Given the description of an element on the screen output the (x, y) to click on. 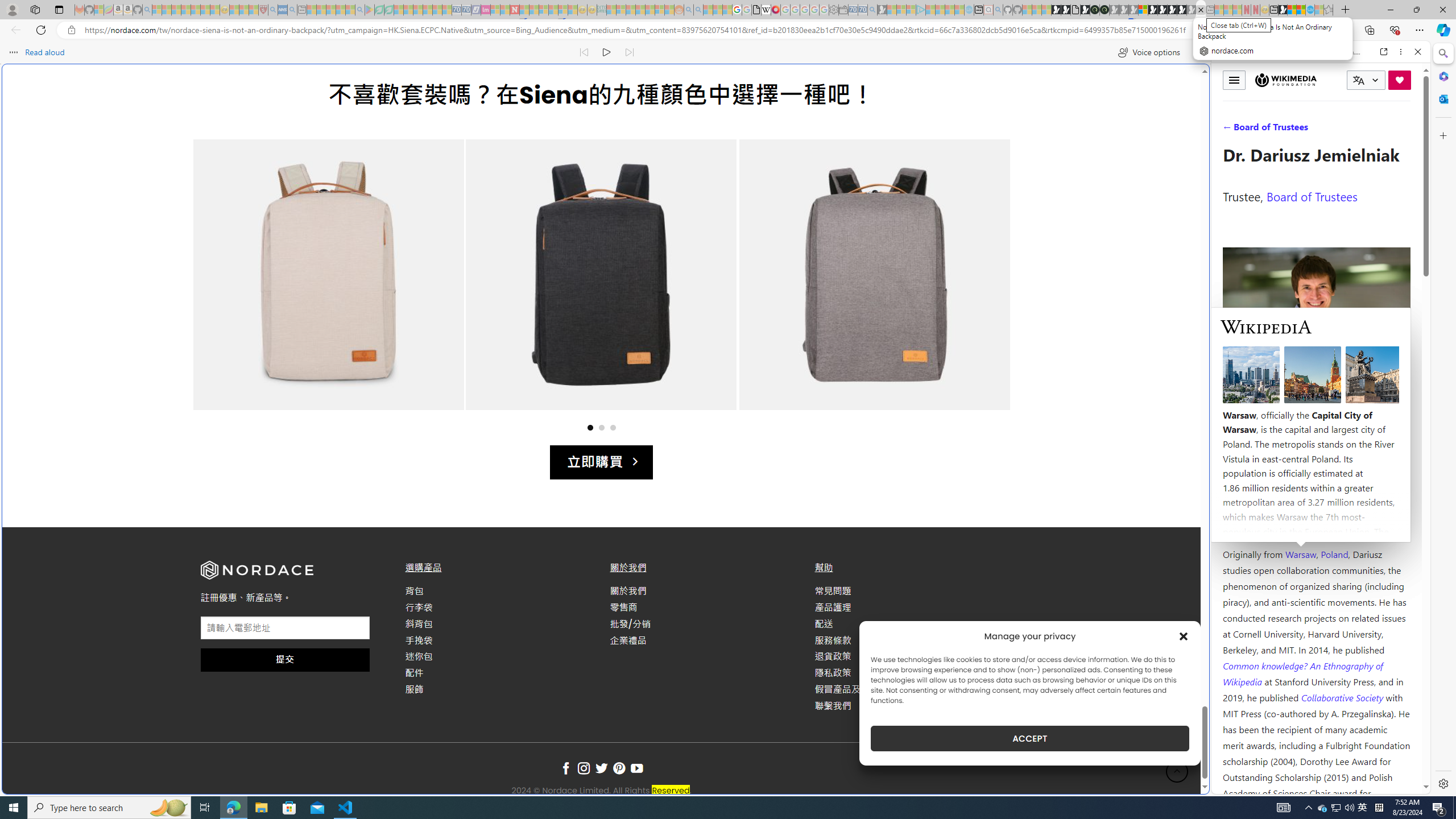
ACCEPT (1029, 738)
Follow on Facebook (565, 768)
Warsaw (1300, 554)
Wikimedia Foundation (1286, 79)
